Given the description of an element on the screen output the (x, y) to click on. 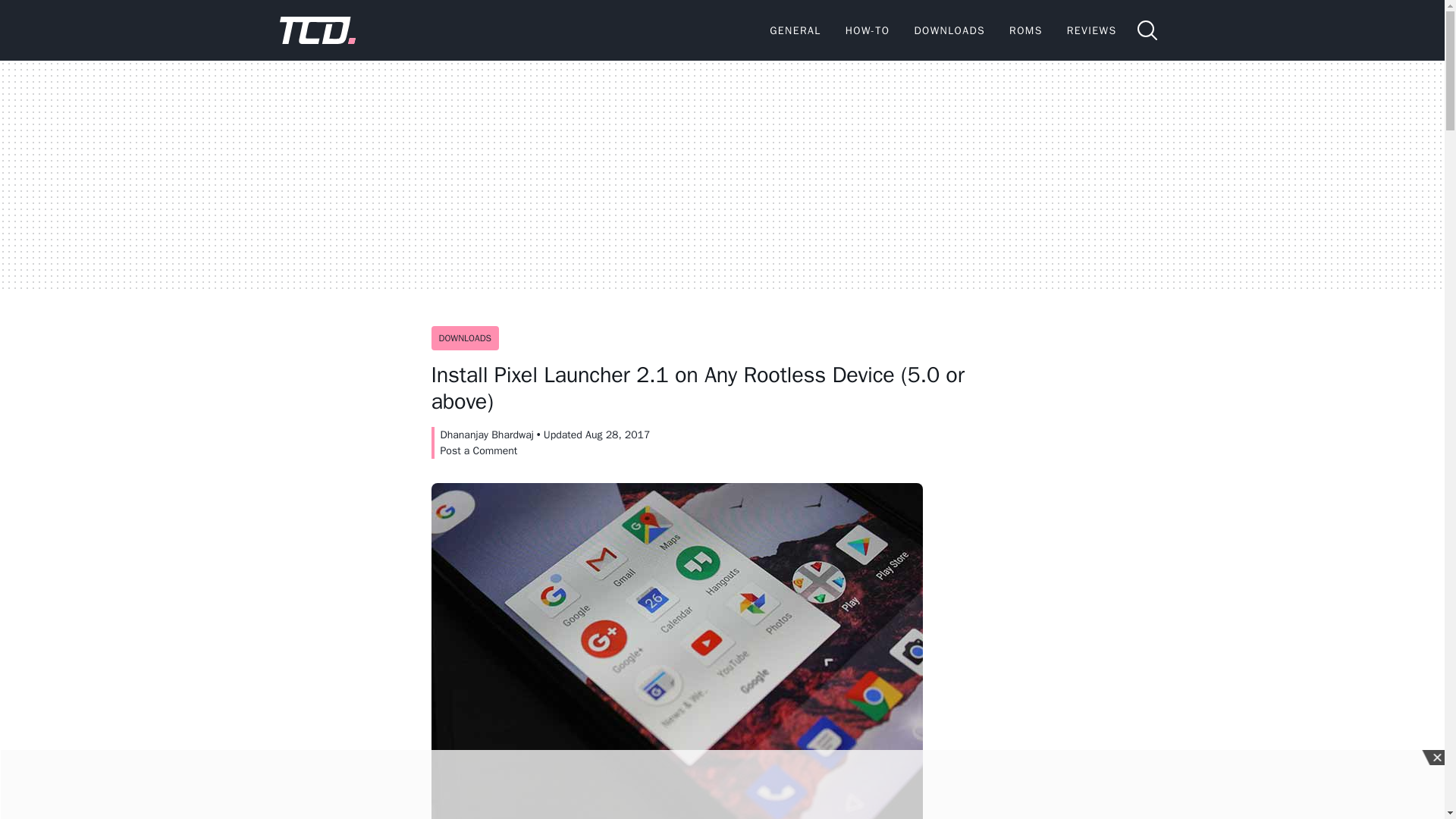
The Custom Droid logo (317, 30)
Android Basics, Tips, and Tricks (794, 30)
GENERAL (794, 30)
DOWNLOADS (464, 337)
How-To Tutorials (867, 30)
HOW-TO (867, 30)
Stock Firmware Updates, OTA, and Custom ROMs (1025, 30)
ROMS (1025, 30)
Dhananjay Bhardwaj (485, 434)
Post a Comment (477, 450)
